Given the description of an element on the screen output the (x, y) to click on. 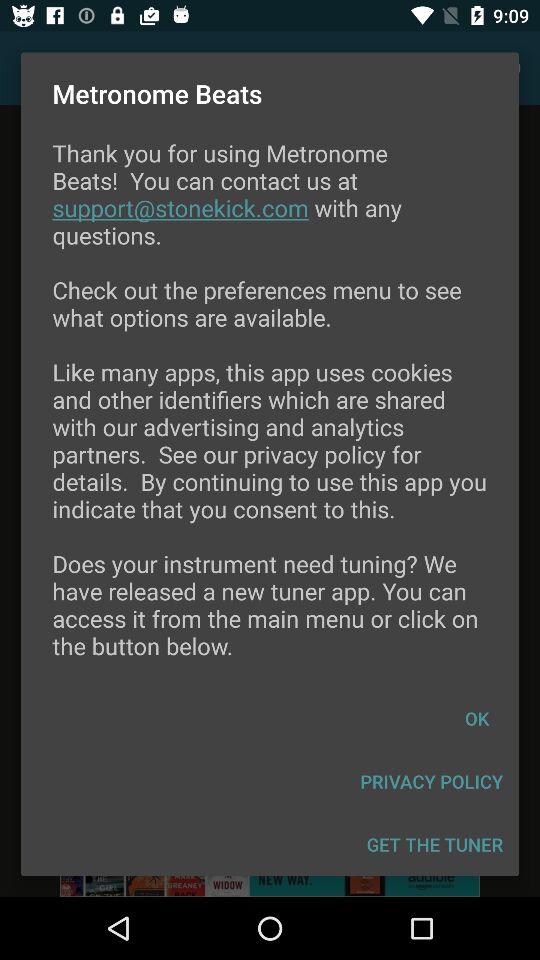
open the icon above the privacy policy item (477, 718)
